Given the description of an element on the screen output the (x, y) to click on. 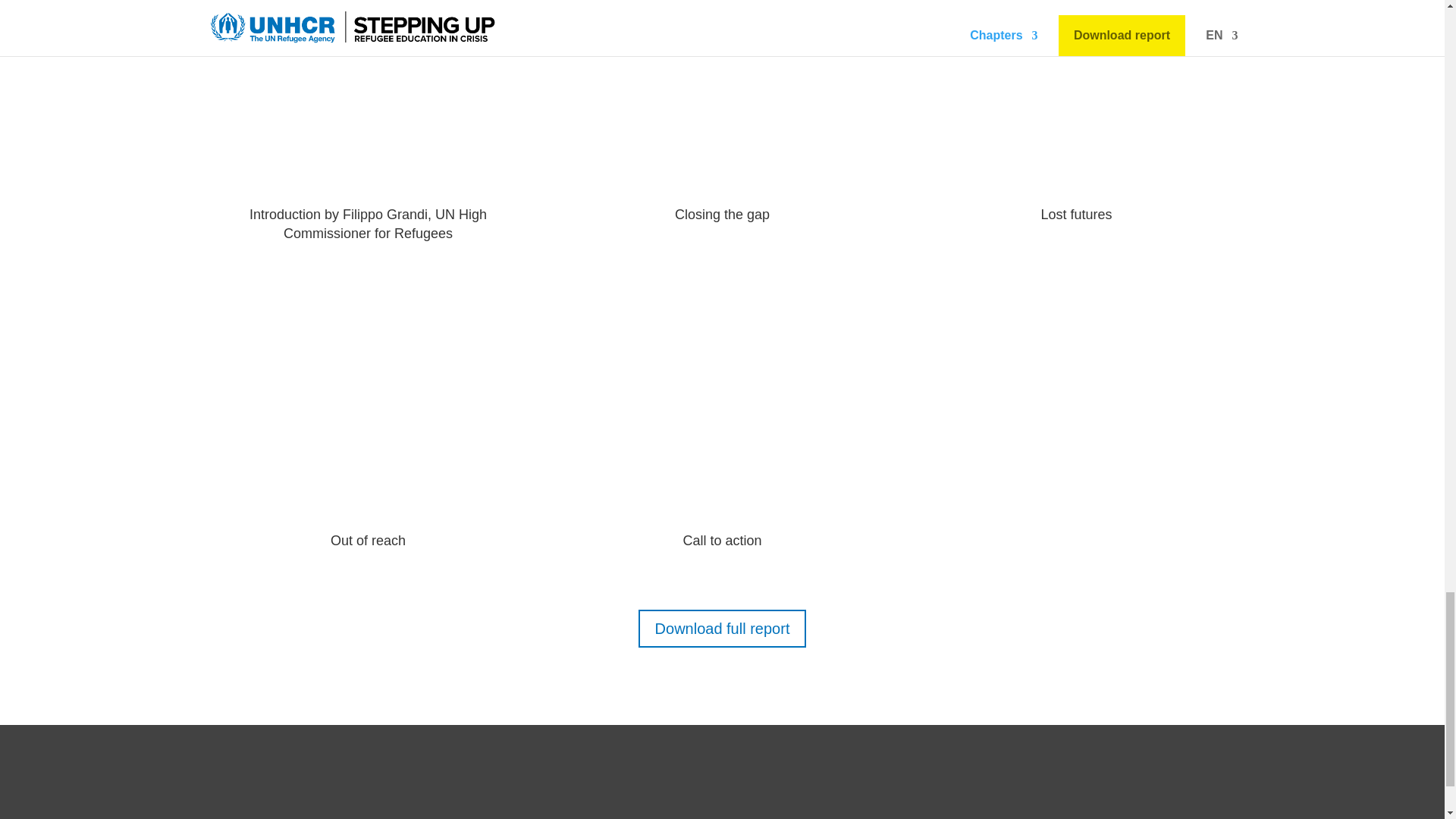
Call to action (721, 540)
Download full report (722, 628)
Lost futures (1076, 214)
Closing the gap (722, 214)
Out of reach (368, 540)
